Given the description of an element on the screen output the (x, y) to click on. 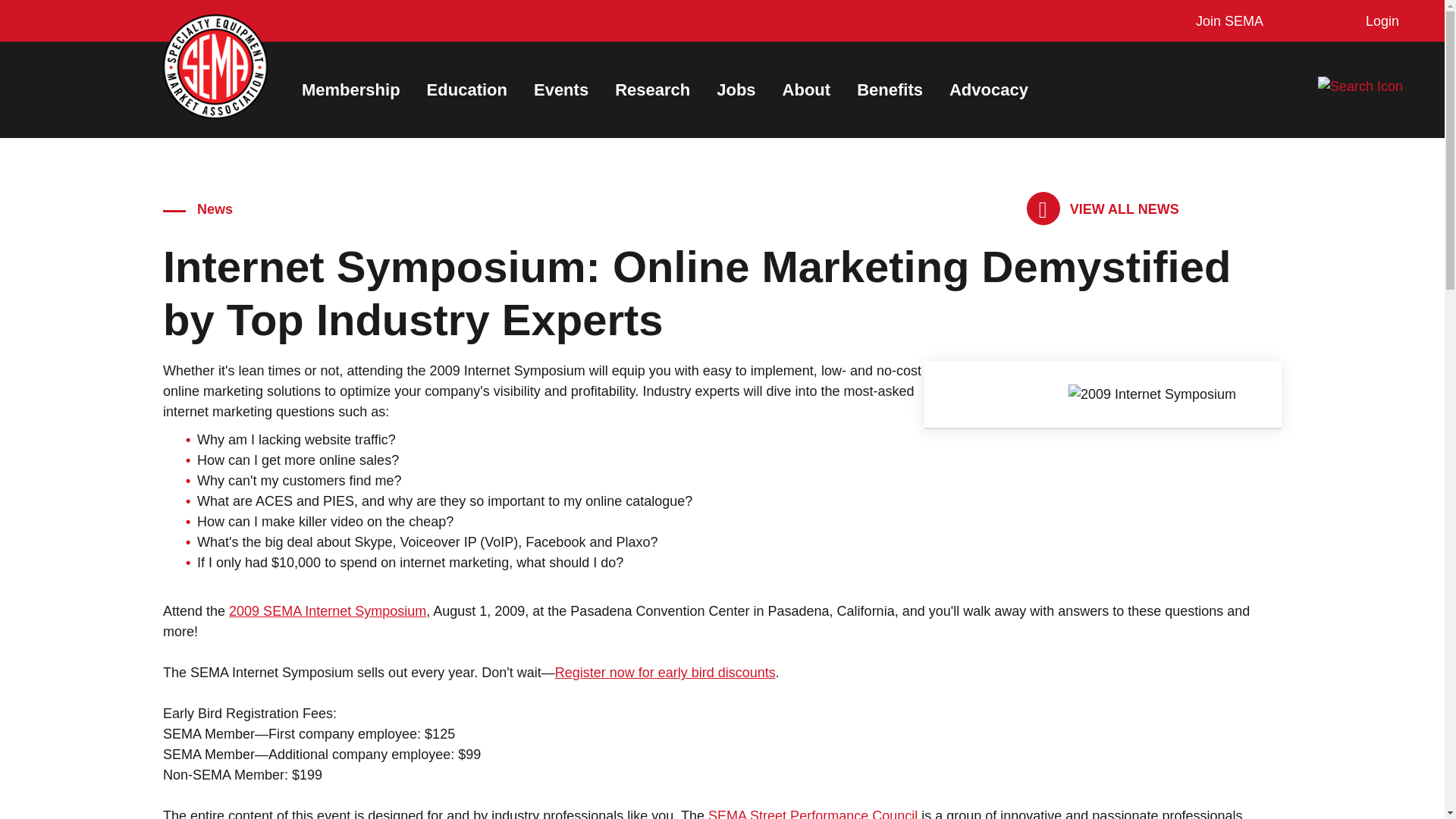
VIEW ALL NEWS (1102, 209)
Advocacy (988, 89)
Education (466, 89)
Membership (350, 89)
Register now for early bird discounts (665, 672)
Research (652, 89)
Benefits (889, 89)
2009 SEMA Internet Symposium (327, 611)
Join SEMA (1225, 20)
Search Sema.org (1373, 86)
eNews archive (1102, 209)
Login (1378, 20)
SEMA Street Performance Council (812, 813)
